Given the description of an element on the screen output the (x, y) to click on. 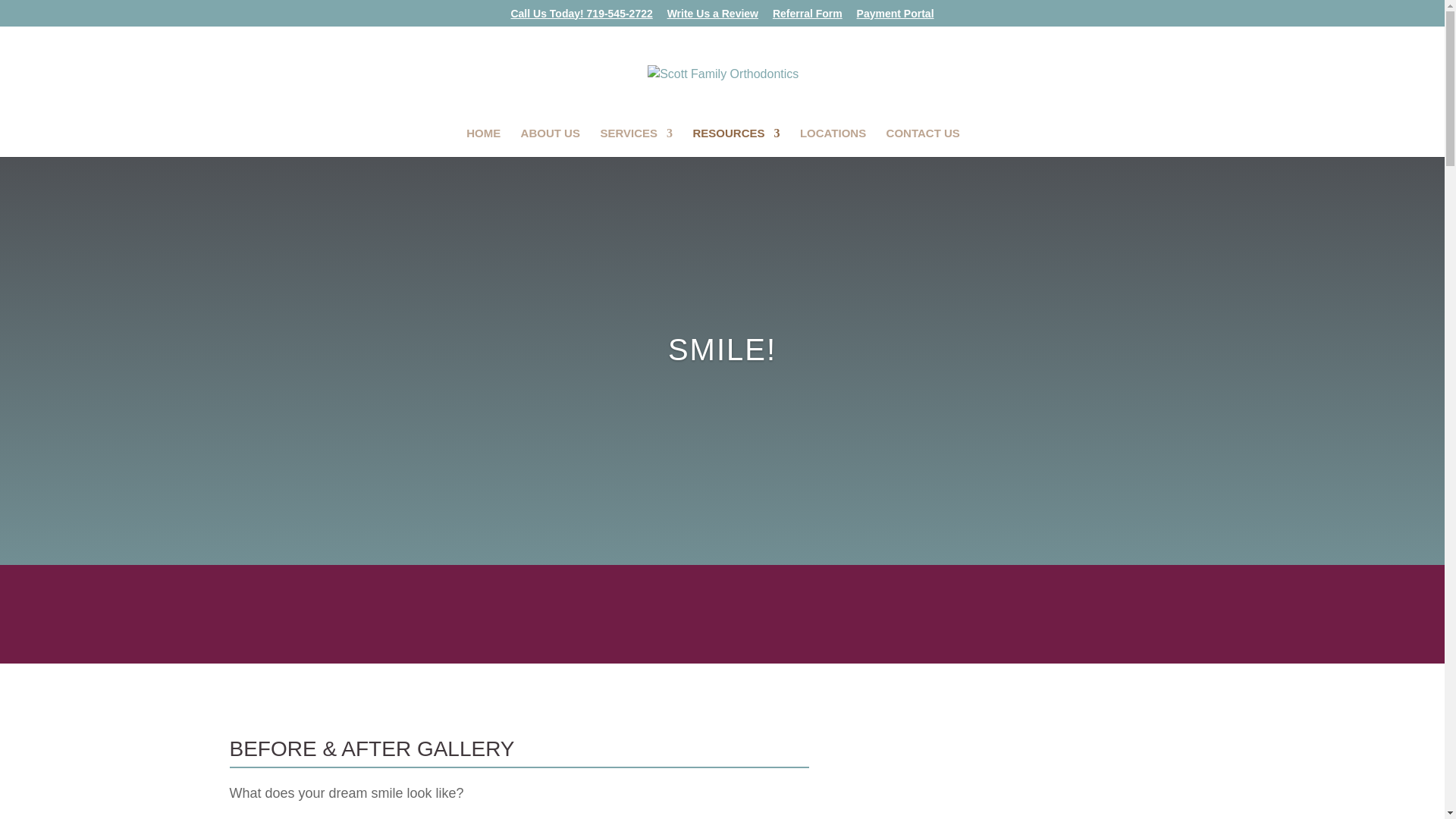
CONTACT US (922, 142)
Call Us Today! 719-545-2722 (581, 16)
Referral Form (808, 16)
Write Us a Review (712, 16)
ABOUT US (550, 142)
SERVICES (635, 142)
LOCATIONS (832, 142)
RESOURCES (735, 142)
HOME (482, 142)
Payment Portal (895, 16)
